Given the description of an element on the screen output the (x, y) to click on. 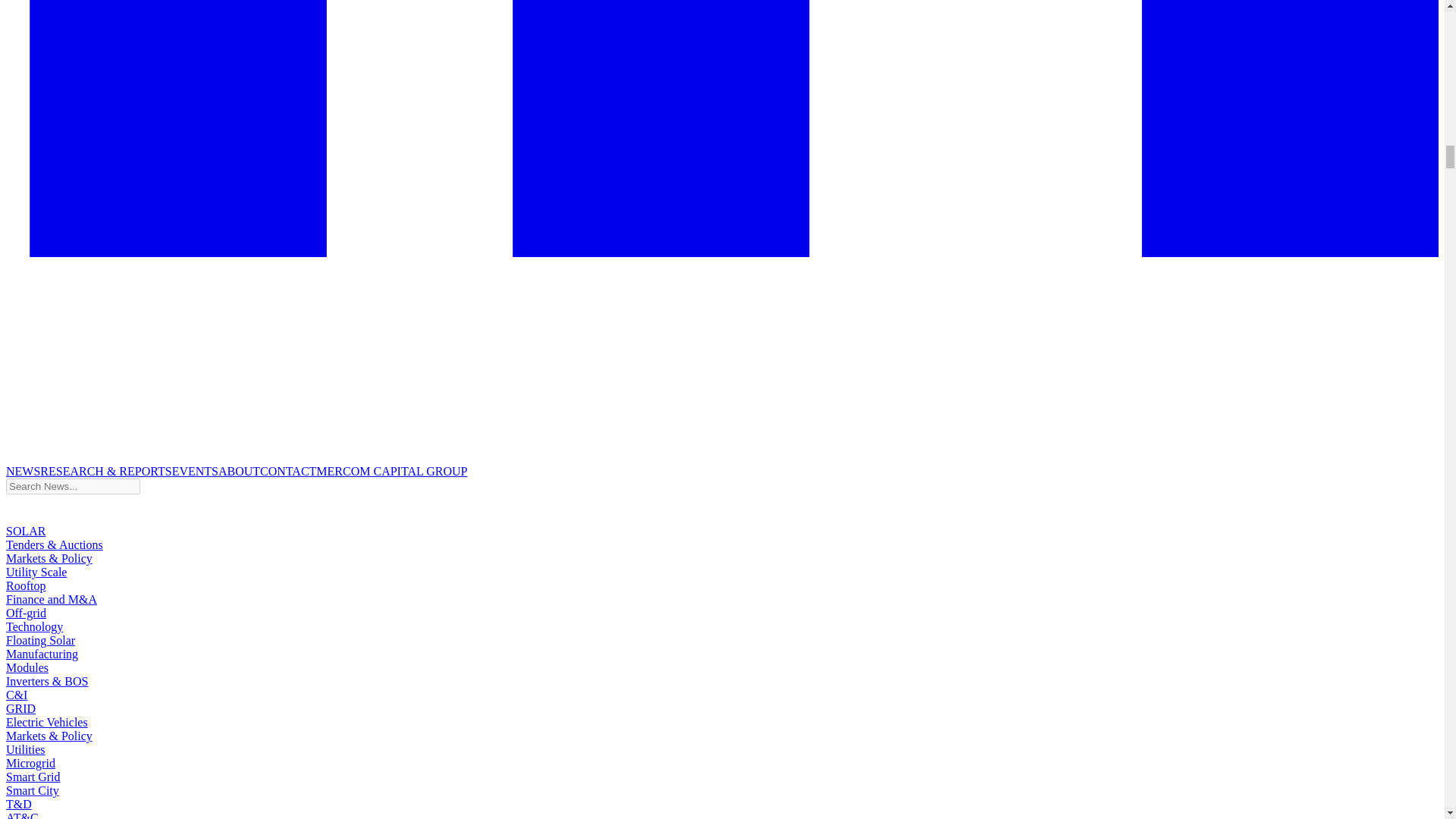
GRID (19, 707)
Floating Solar (40, 640)
Utility Scale (35, 571)
NEWS (22, 471)
SOLAR (25, 530)
Manufacturing (41, 653)
ABOUT (239, 471)
MERCOM CAPITAL GROUP (391, 471)
CONTACT (287, 471)
Modules (26, 667)
